Given the description of an element on the screen output the (x, y) to click on. 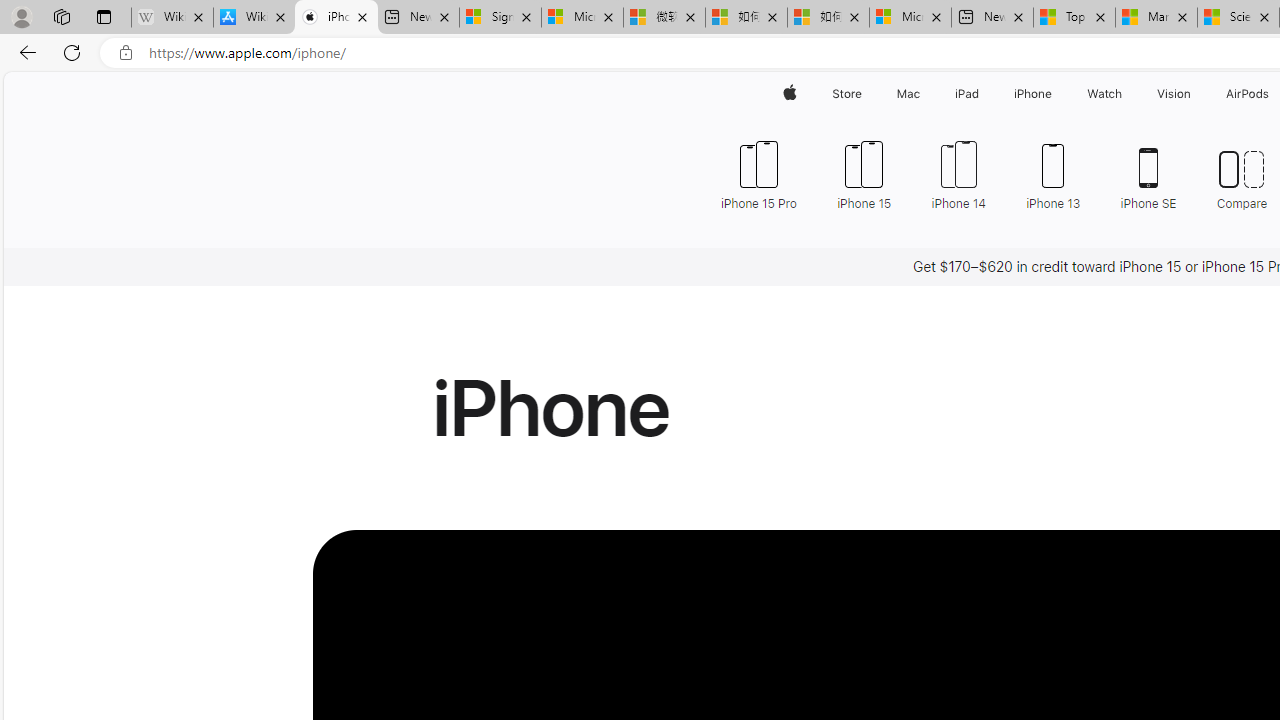
iPhone 15 Pro (765, 173)
iPhone 15 Pro (758, 173)
iPhone 14 (957, 173)
iPhone (1033, 93)
iPhone SE (1147, 173)
Marine life - MSN (1156, 17)
iPhone SE (1148, 173)
Vision menu (1195, 93)
Mac (908, 93)
iPhone 13 (1053, 173)
iPhone - Apple (336, 17)
iPhone 15 (864, 173)
